Given the description of an element on the screen output the (x, y) to click on. 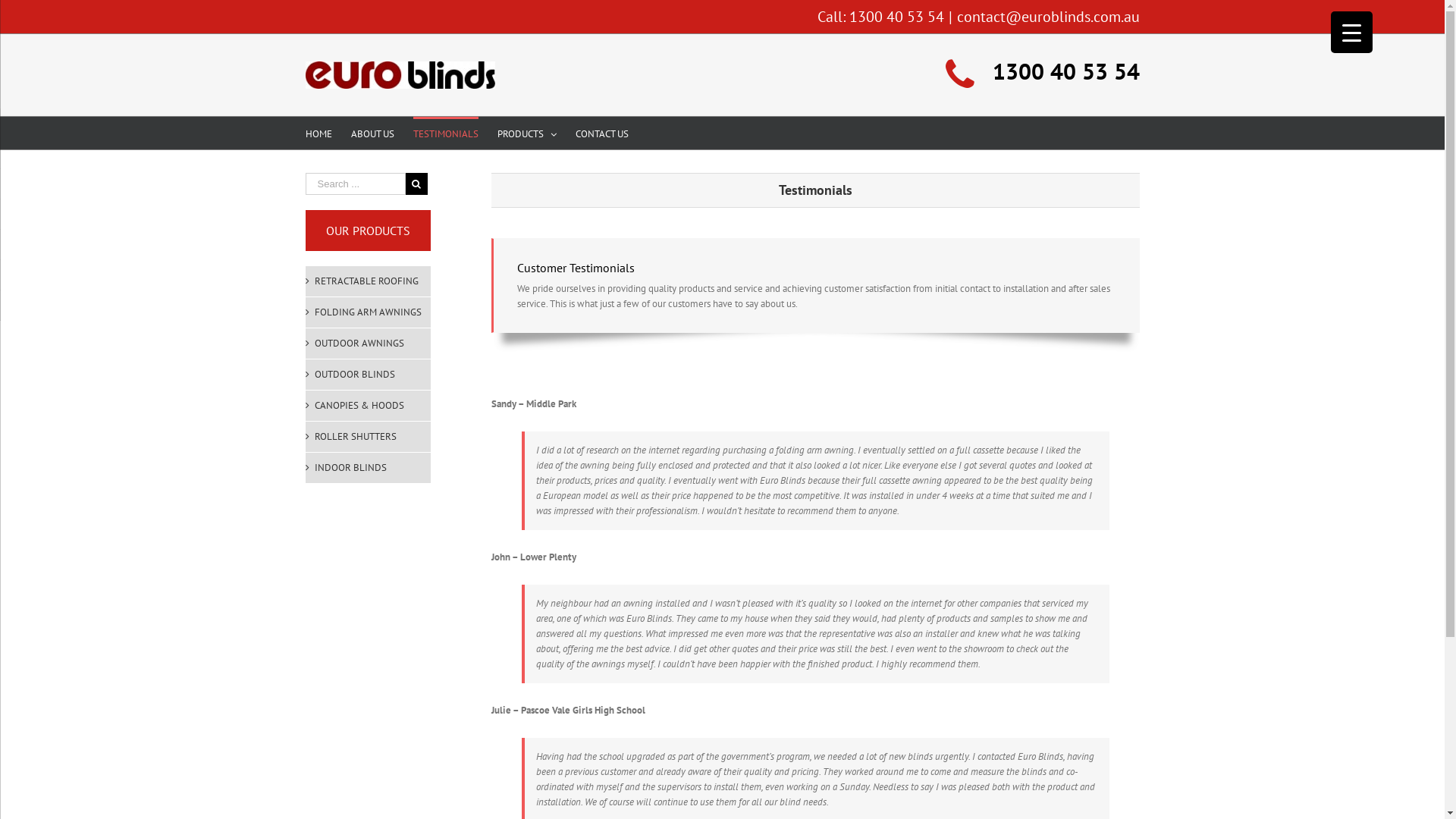
PRODUCTS Element type: text (526, 132)
ROLLER SHUTTERS Element type: text (367, 436)
FOLDING ARM AWNINGS Element type: text (367, 312)
1300 40 53 54 Element type: text (896, 16)
RETRACTABLE ROOFING Element type: text (367, 280)
TESTIMONIALS Element type: text (444, 132)
CANOPIES & HOODS Element type: text (367, 405)
INDOOR BLINDS Element type: text (367, 467)
HOME Element type: text (317, 132)
OUTDOOR BLINDS Element type: text (367, 374)
contact@euroblinds.com.au Element type: text (1048, 16)
ABOUT US Element type: text (371, 132)
OUTDOOR AWNINGS Element type: text (367, 343)
CONTACT US Element type: text (600, 132)
